Given the description of an element on the screen output the (x, y) to click on. 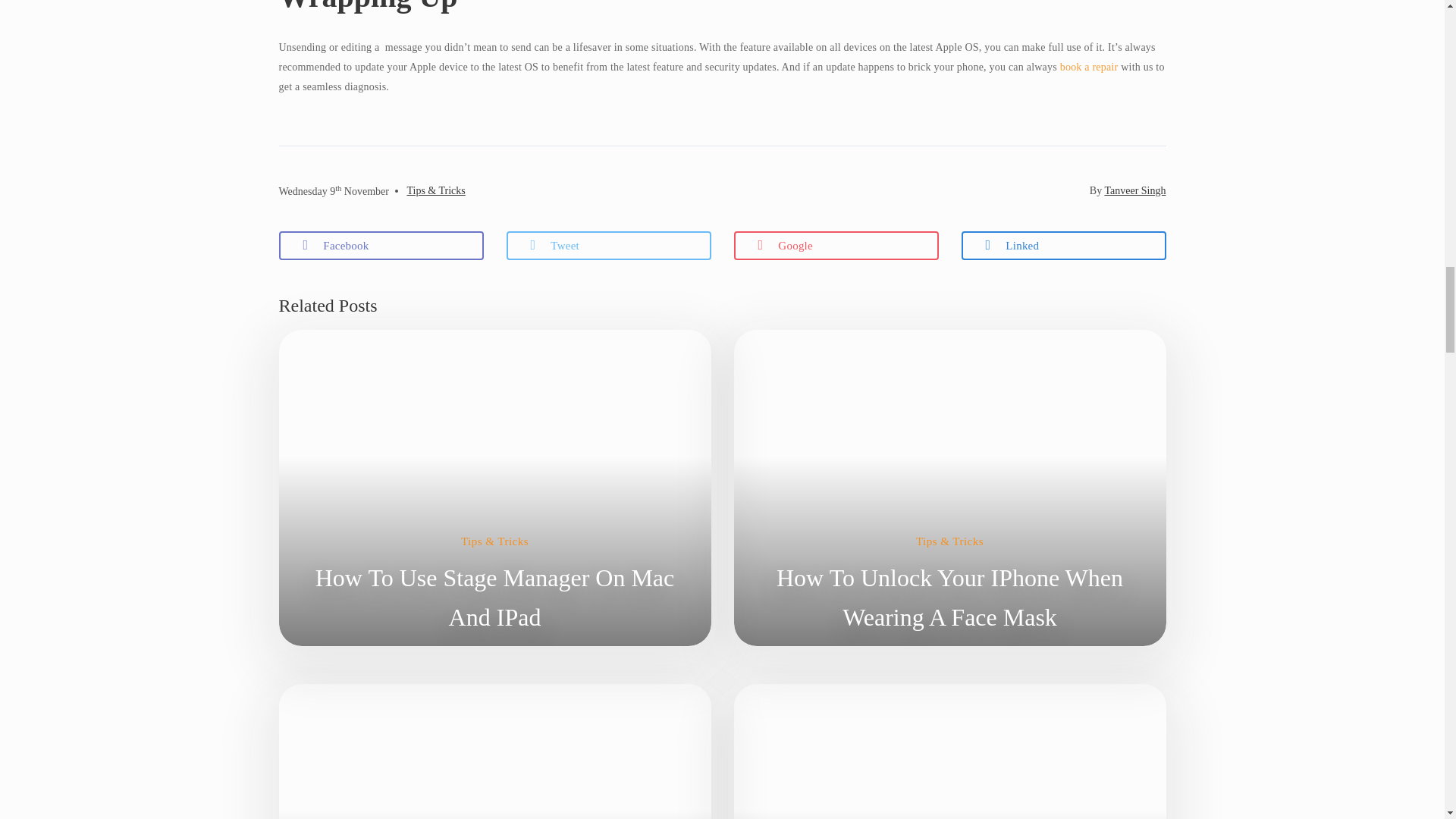
Twitter (608, 245)
LinkedIn (1063, 245)
Facebook (381, 245)
Posts by Tanveer Singh (1134, 190)
Google Plus (836, 245)
